Given the description of an element on the screen output the (x, y) to click on. 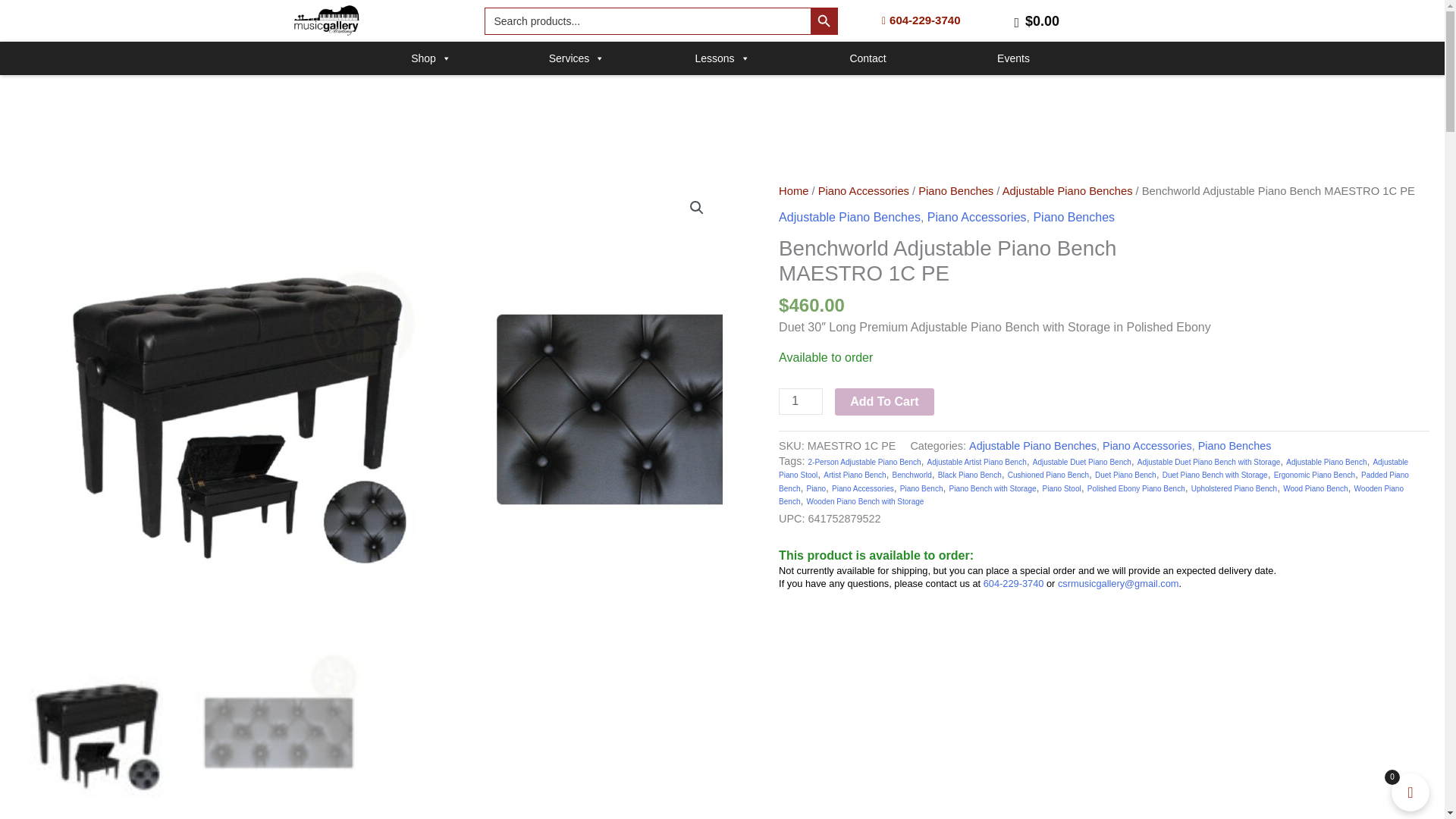
1 (800, 401)
View your shopping cart (1036, 20)
604-229-3740 (905, 20)
Search Button (823, 21)
